Given the description of an element on the screen output the (x, y) to click on. 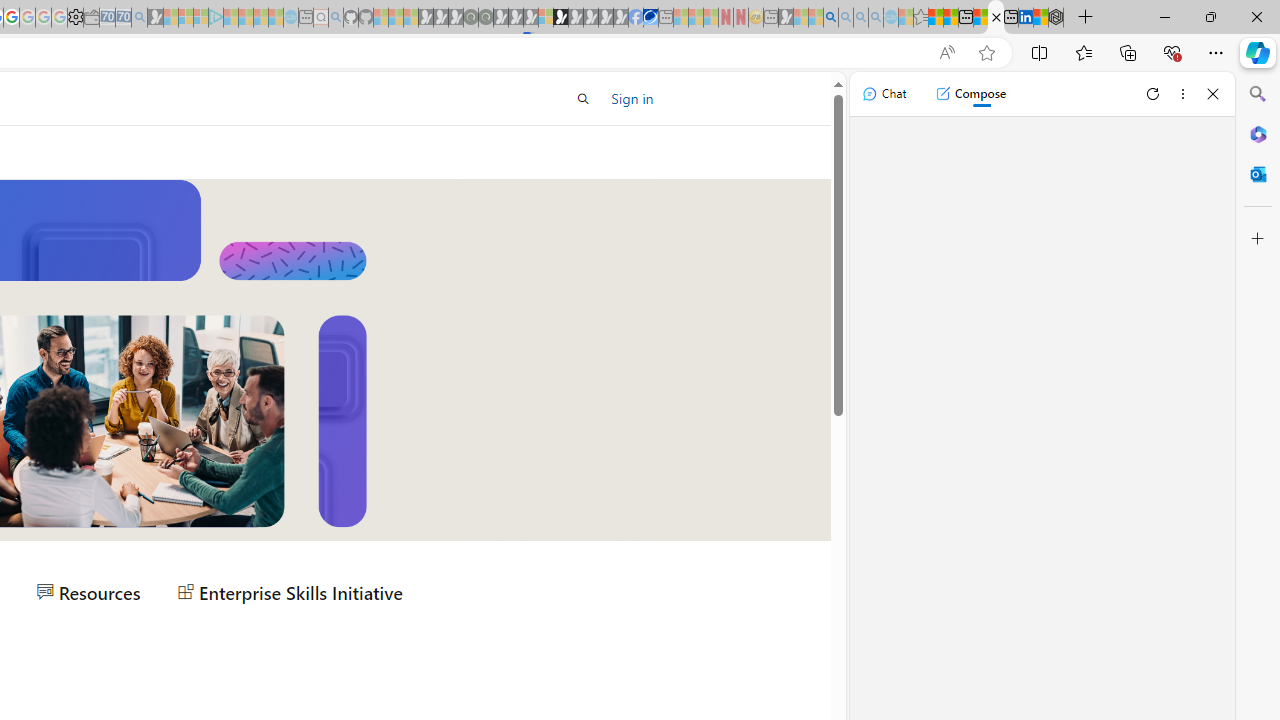
Microsoft Learn for Organizations | Microsoft Learn (996, 17)
github - Search - Sleeping (336, 17)
Resources (87, 592)
